Given the description of an element on the screen output the (x, y) to click on. 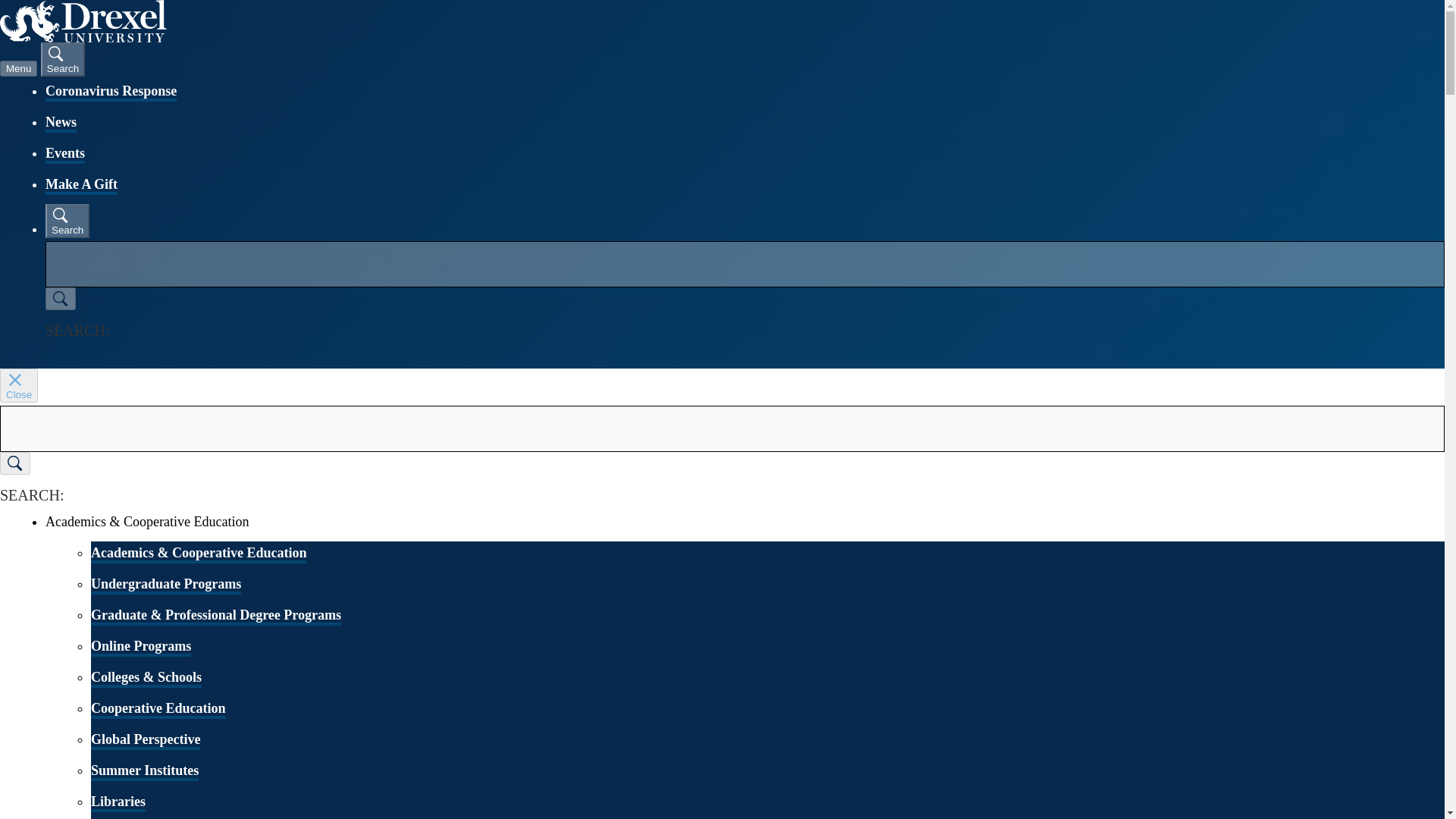
Close (18, 385)
Summer Institutes (144, 771)
Online Programs (140, 647)
News (61, 123)
Global Perspective (145, 741)
Search (62, 59)
Libraries (117, 802)
Menu (18, 68)
Coronavirus Response (110, 92)
Events (64, 154)
